Given the description of an element on the screen output the (x, y) to click on. 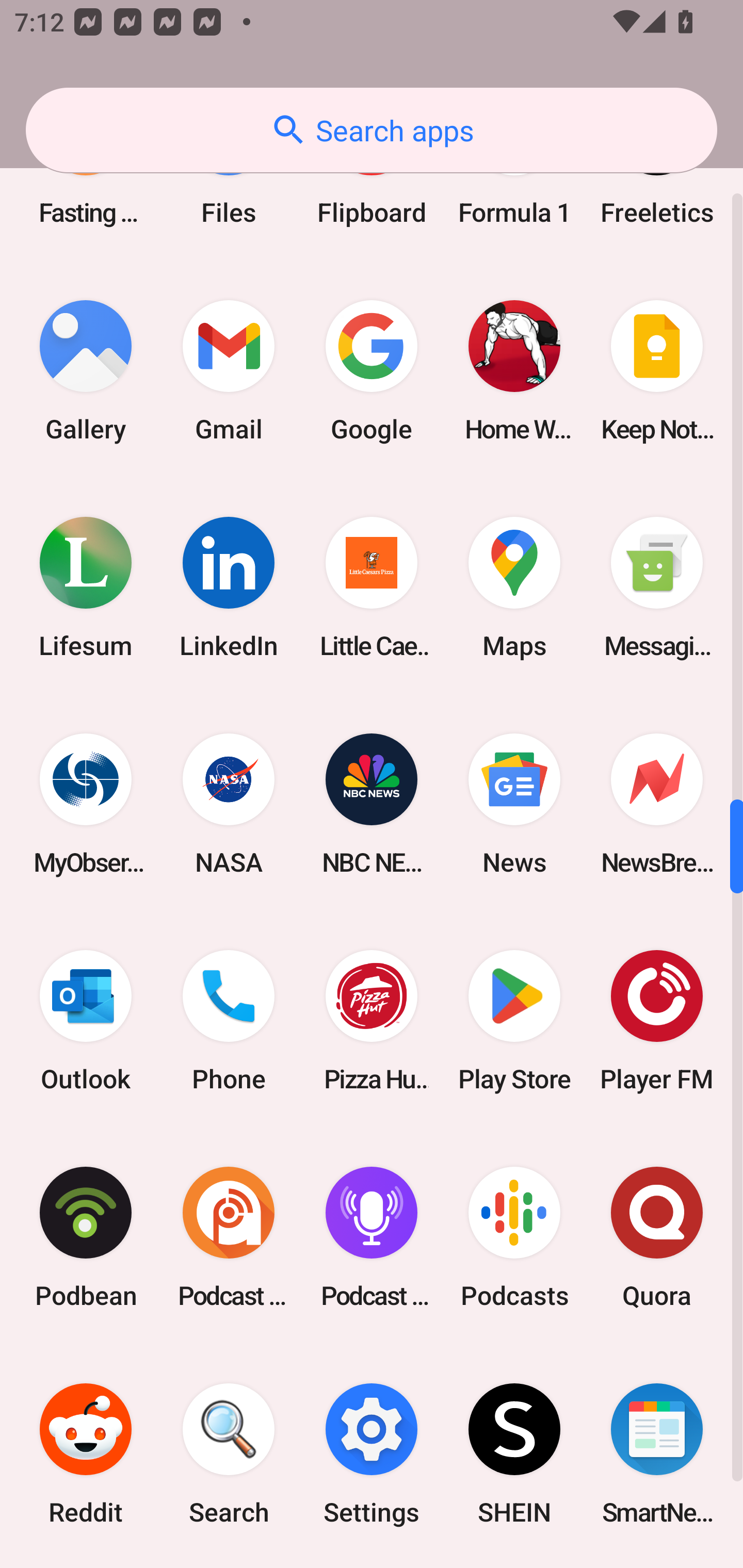
  Search apps (371, 130)
Gallery (85, 370)
Gmail (228, 370)
Google (371, 370)
Home Workout (514, 370)
Keep Notes (656, 370)
Lifesum (85, 587)
LinkedIn (228, 587)
Little Caesars Pizza (371, 587)
Maps (514, 587)
Messaging (656, 587)
MyObservatory (85, 804)
NASA (228, 804)
NBC NEWS (371, 804)
News (514, 804)
NewsBreak (656, 804)
Outlook (85, 1020)
Phone (228, 1020)
Pizza Hut HK & Macau (371, 1020)
Play Store (514, 1020)
Player FM (656, 1020)
Podbean (85, 1236)
Podcast Addict (228, 1236)
Podcast Player (371, 1236)
Podcasts (514, 1236)
Quora (656, 1236)
Reddit (85, 1453)
Search (228, 1453)
Settings (371, 1453)
SHEIN (514, 1453)
SmartNews (656, 1453)
Sofascore (85, 1564)
Spotify (228, 1564)
Superuser (371, 1564)
Tasks (514, 1564)
The Weather Channel (656, 1564)
